Given the description of an element on the screen output the (x, y) to click on. 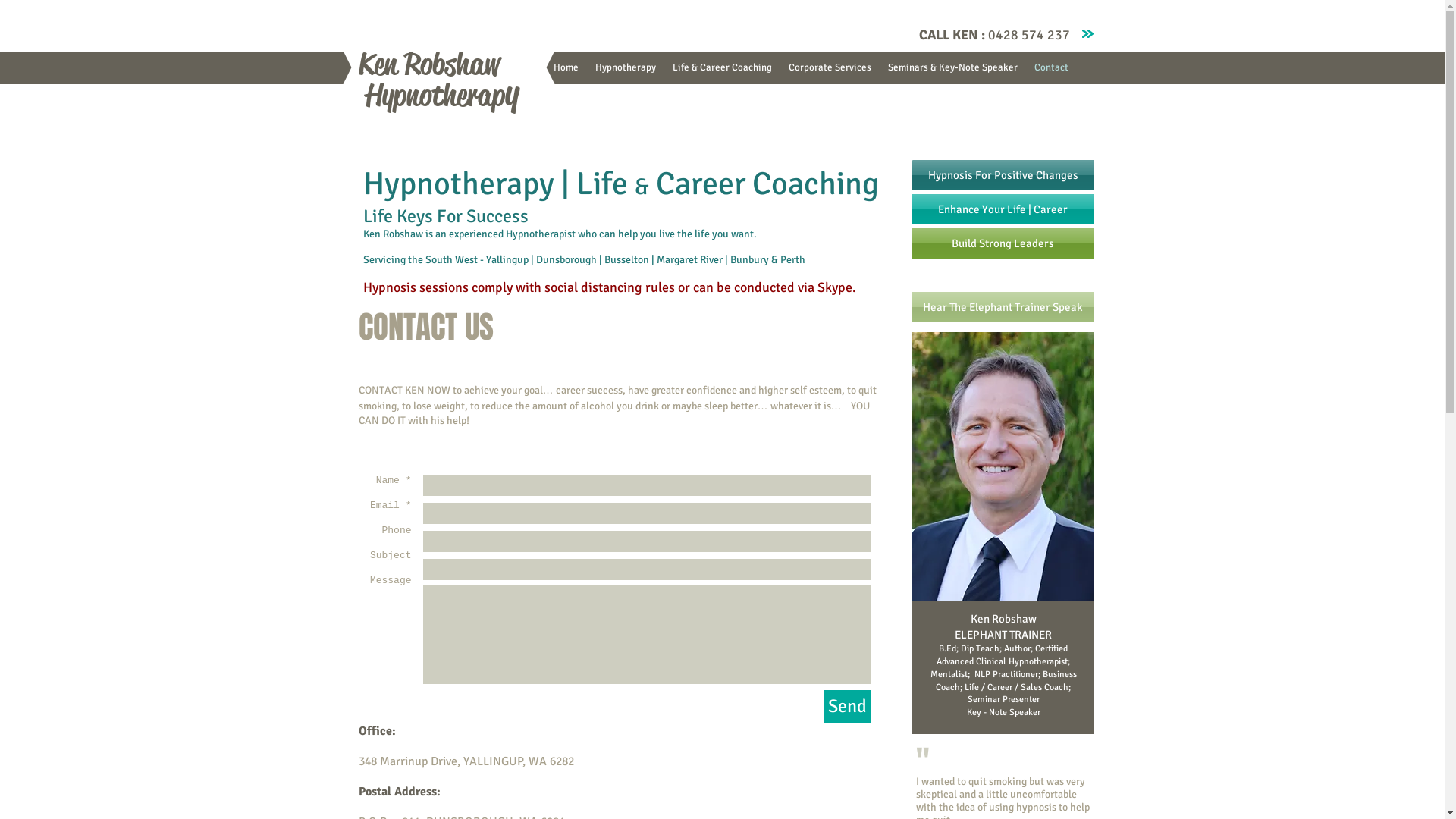
Send Element type: text (846, 706)
Hear The Elephant Trainer Speak Element type: text (1002, 306)
Enhance Your Life | Career Element type: text (1002, 209)
Corporate Services Element type: text (828, 67)
Seminars & Key-Note Speaker Element type: text (952, 67)
Hypnosis For Positive Changes Element type: text (1002, 175)
Home Element type: text (565, 67)
Ken Robshaw Advanced Clinical Hypnotherapist Element type: hover (1002, 495)
Contact Element type: text (1050, 67)
Hypnotherapy Element type: text (625, 67)
Build Strong Leaders Element type: text (1002, 243)
Life & Career Coaching Element type: text (722, 67)
